Given the description of an element on the screen output the (x, y) to click on. 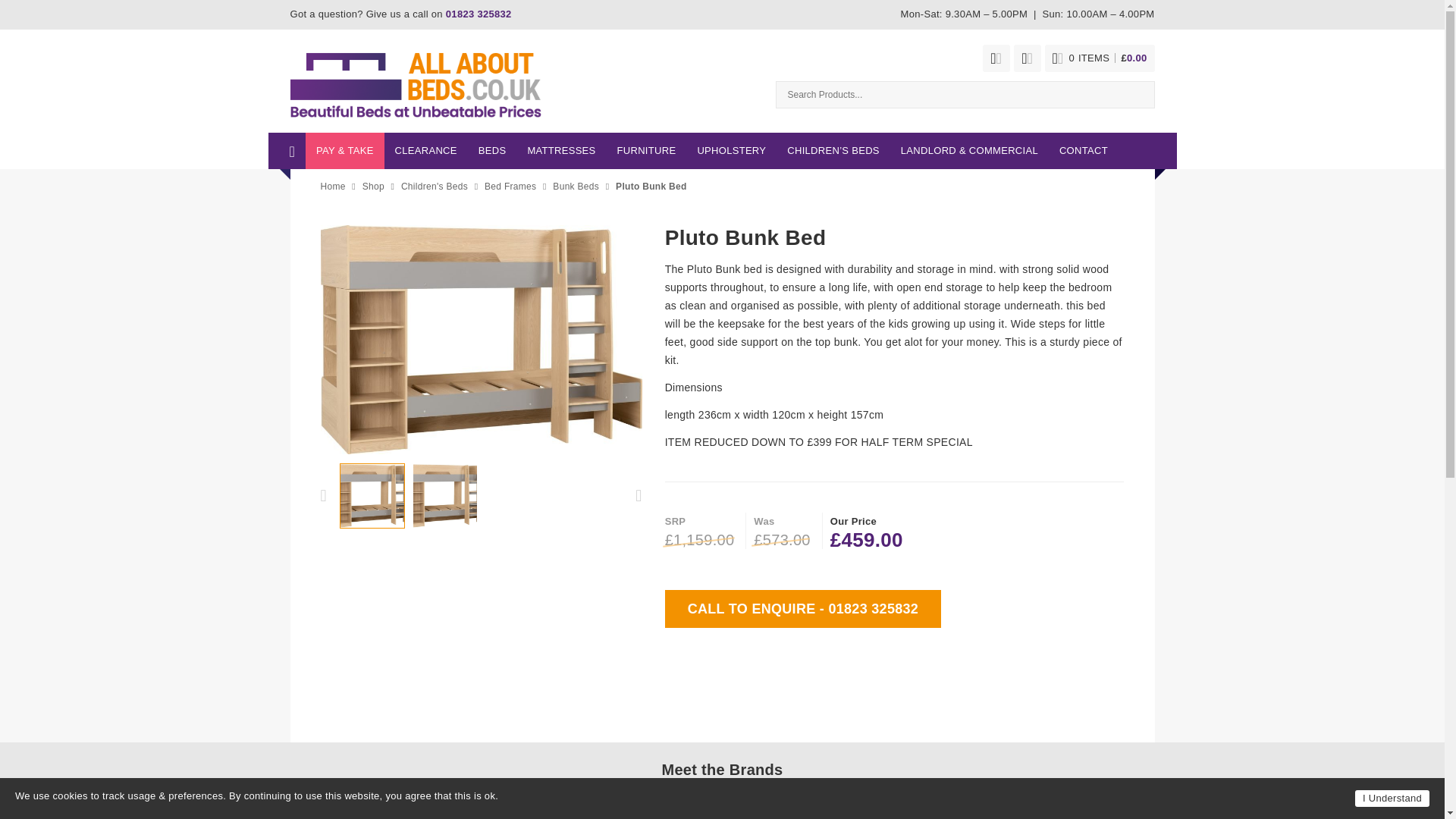
PayPal Message 1 (894, 636)
BEDS (491, 150)
PLUTO-BUNK-BED-GREYOAK-EFFECT-2023-200-205-024-01-scaled (371, 495)
PLUTO-BUNK-BED-GREYOAK-EFFECT-2023-200-205-024-01-scaled (445, 495)
PLUTO-BUNK-BED-GREYOAK-EFFECT-2023-200-205-024-01-scaled (481, 339)
I Understand (1392, 798)
CLEARANCE (425, 150)
01823 325832 (478, 13)
